Given the description of an element on the screen output the (x, y) to click on. 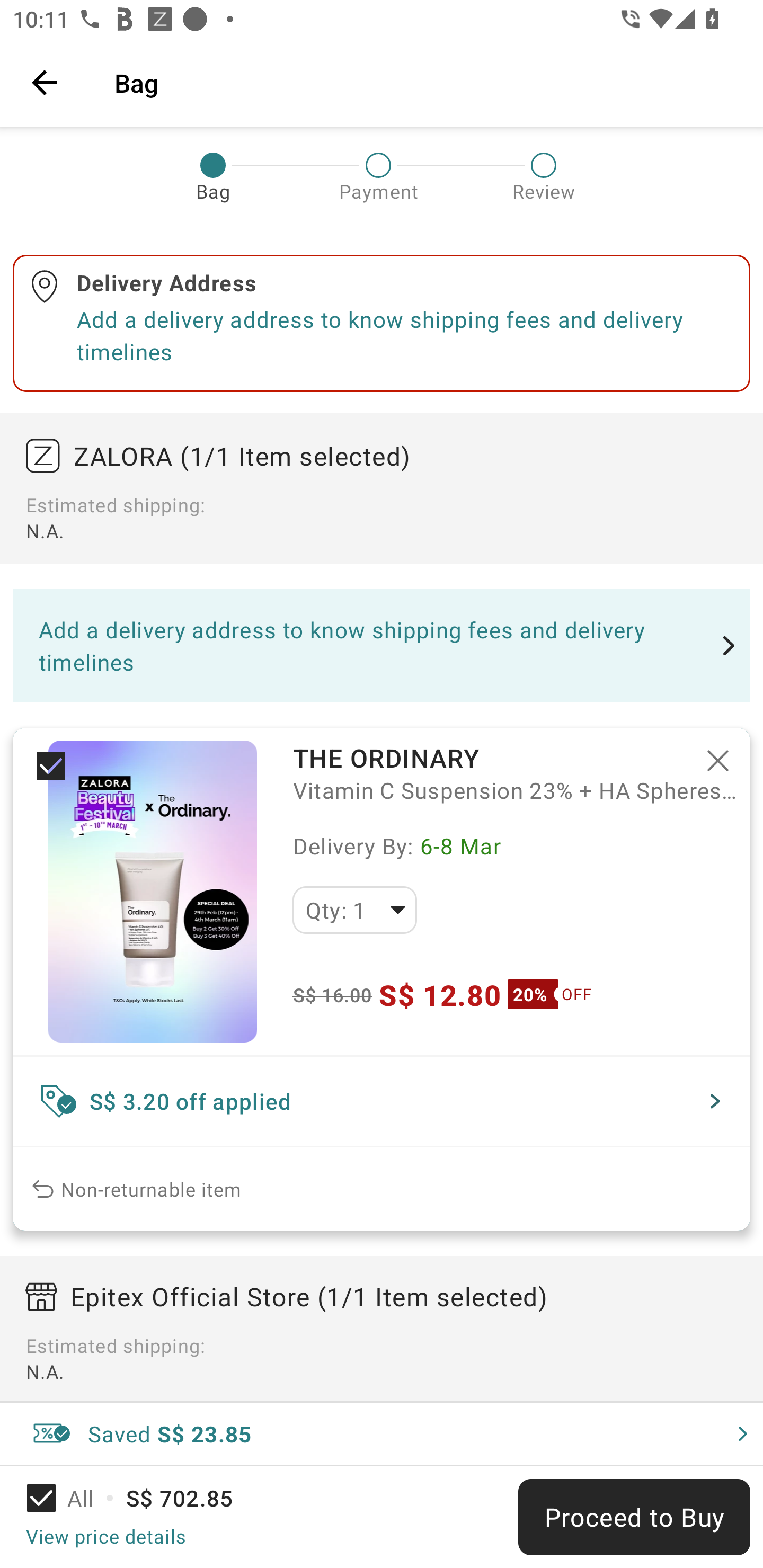
Navigate up (44, 82)
Bag (426, 82)
Qty: 1 (354, 909)
S$ 3.20 off applied (381, 1101)
Saved S$ 23.85 (381, 1433)
All (72, 1497)
Proceed to Buy (634, 1516)
View price details (105, 1535)
